Given the description of an element on the screen output the (x, y) to click on. 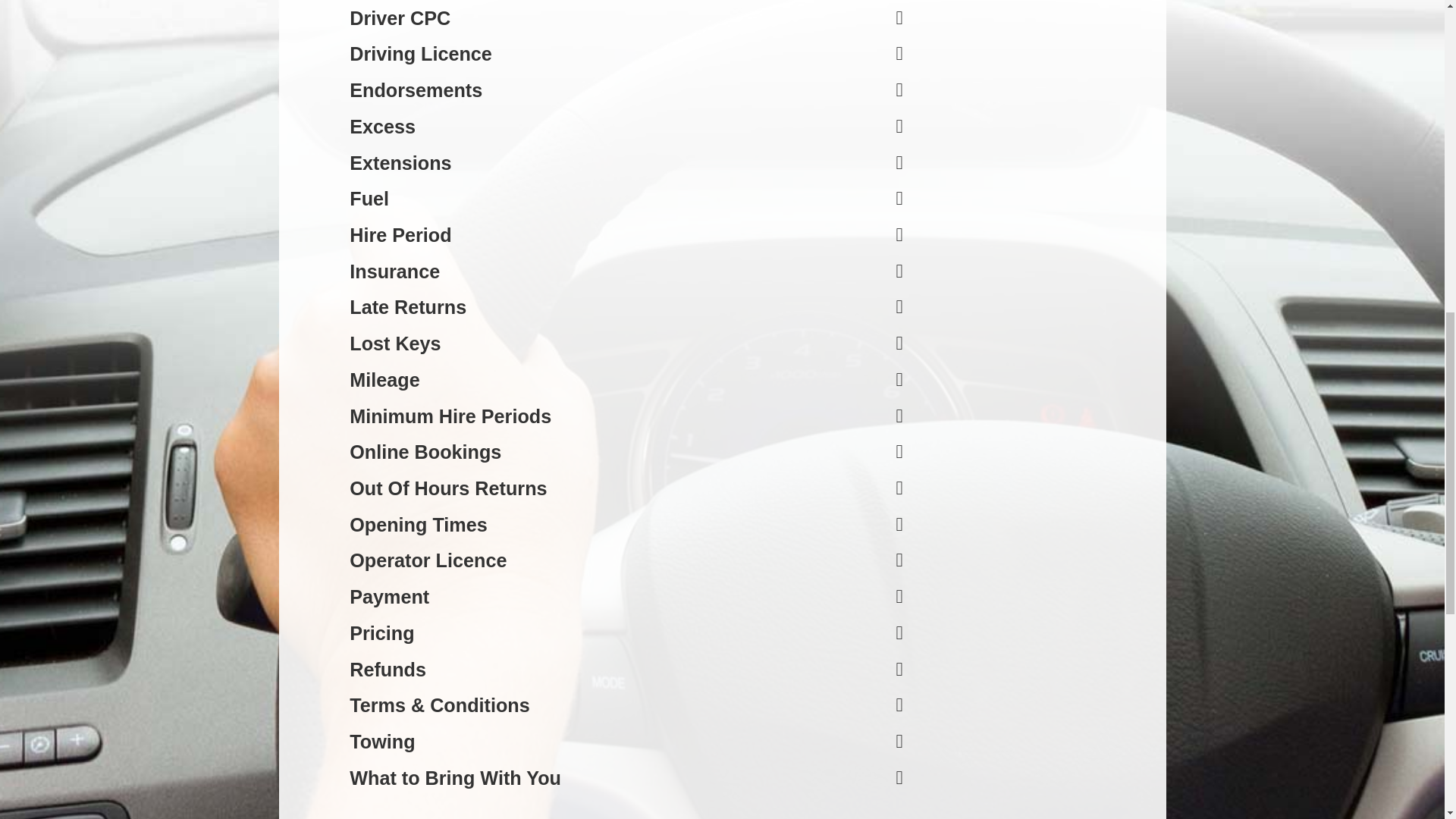
Endorsements (415, 89)
Insurance (394, 271)
Driving Licence (420, 53)
Late Returns (407, 306)
Fuel (368, 198)
Lost Keys (395, 342)
Driver CPC (399, 17)
Hire Period (400, 234)
Excess (381, 126)
Extensions (400, 162)
